Given the description of an element on the screen output the (x, y) to click on. 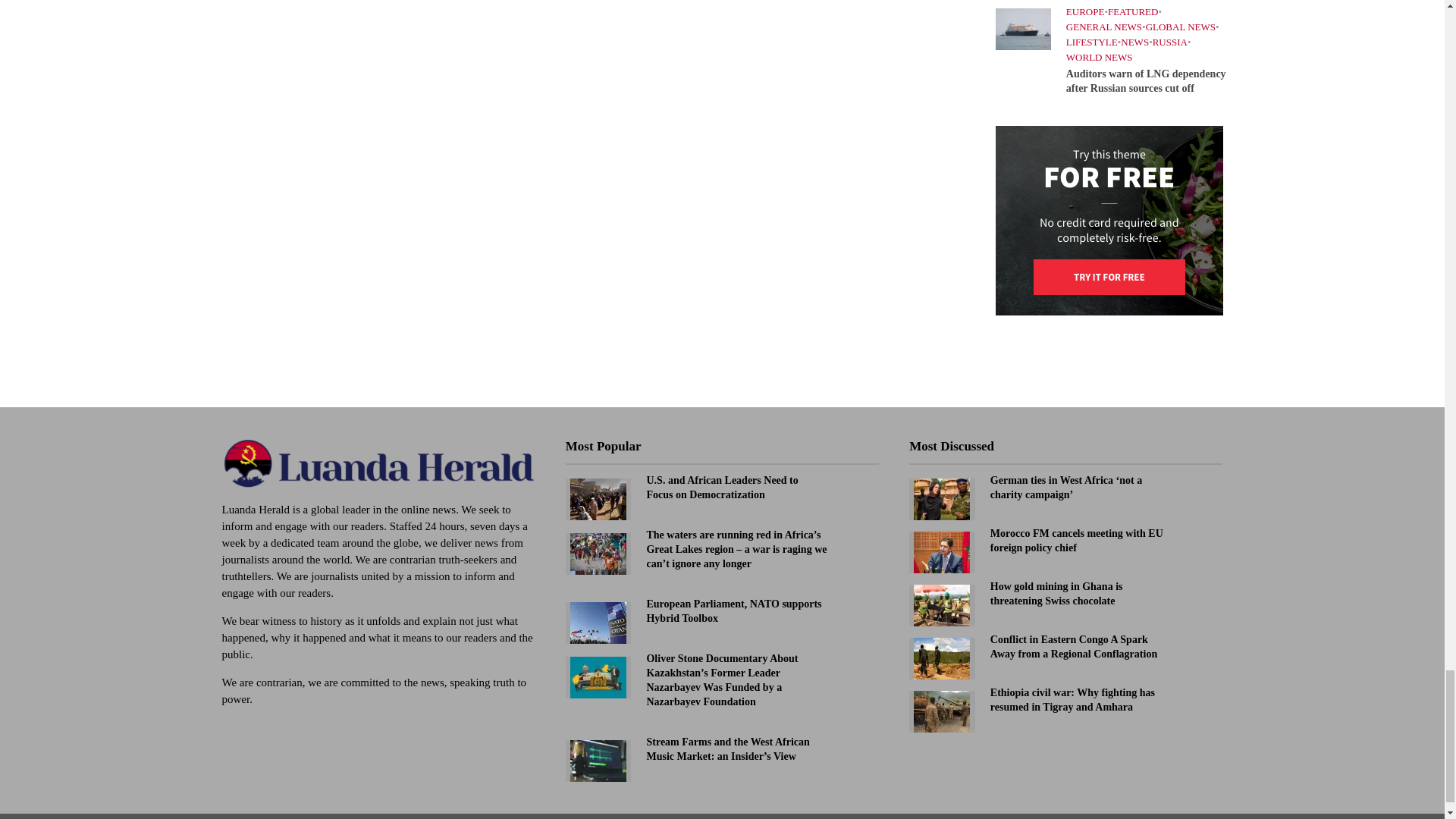
European Parliament, NATO supports Hybrid Toolbox (598, 621)
U.S. and African Leaders Need to Focus on Democratization (598, 498)
